Given the description of an element on the screen output the (x, y) to click on. 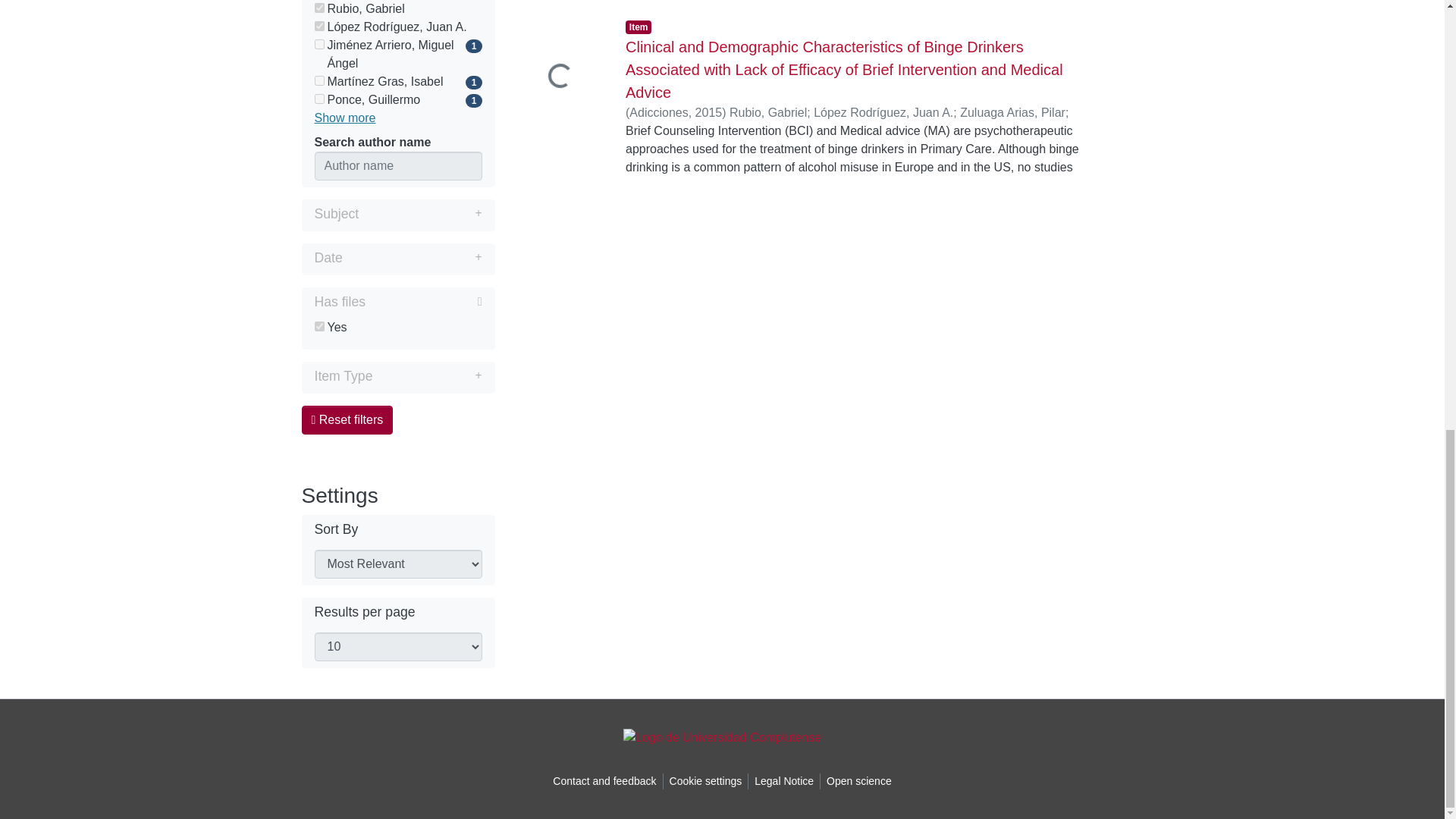
on (318, 8)
Expand filter (411, 257)
on (318, 326)
Expand filter (426, 375)
Collapse filter (423, 301)
Rubio, Gabriel (397, 9)
Expand filter (419, 213)
on (318, 26)
on (318, 44)
on (318, 99)
on (318, 80)
